Given the description of an element on the screen output the (x, y) to click on. 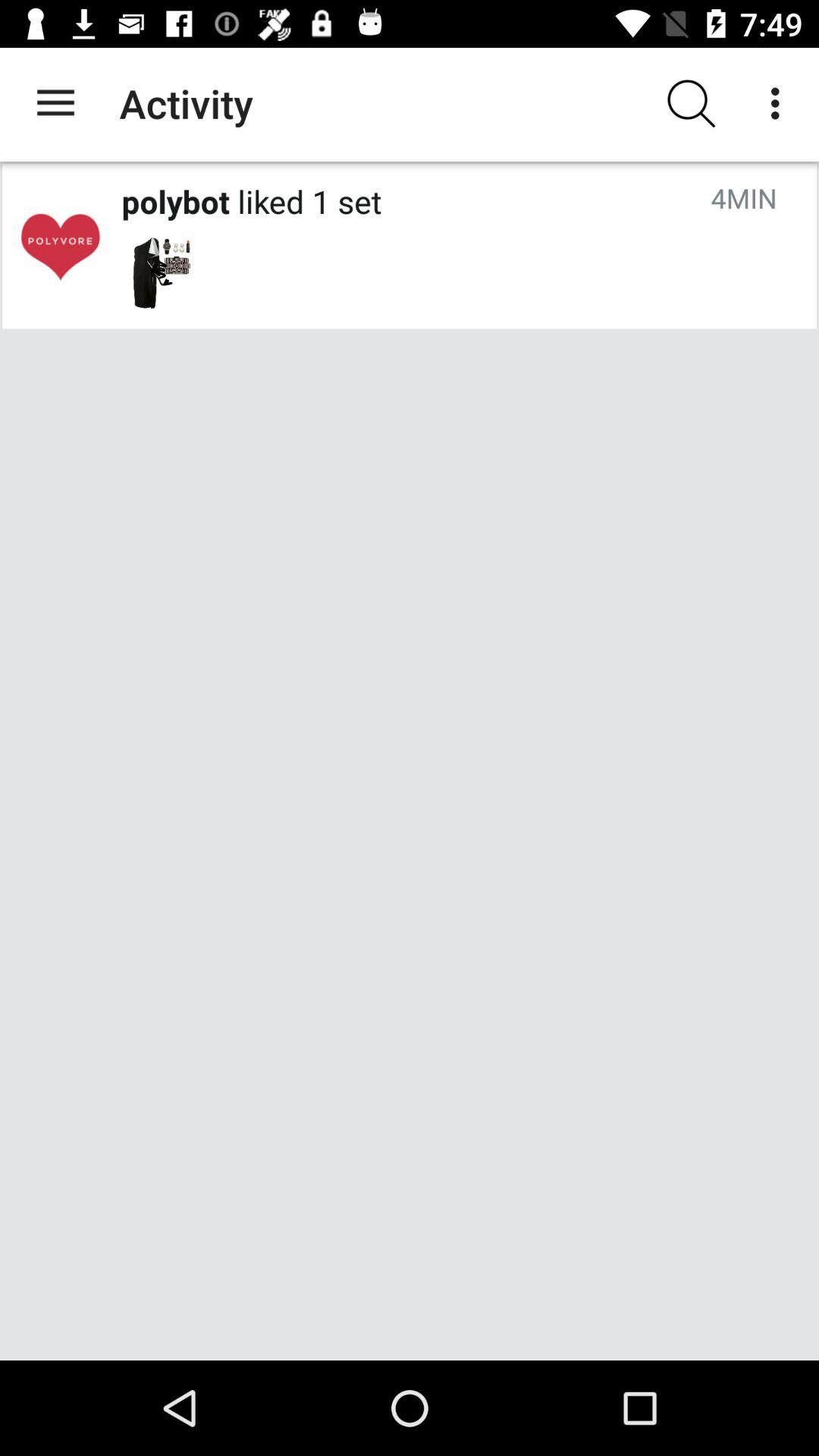
see the display picture (59, 245)
